Given the description of an element on the screen output the (x, y) to click on. 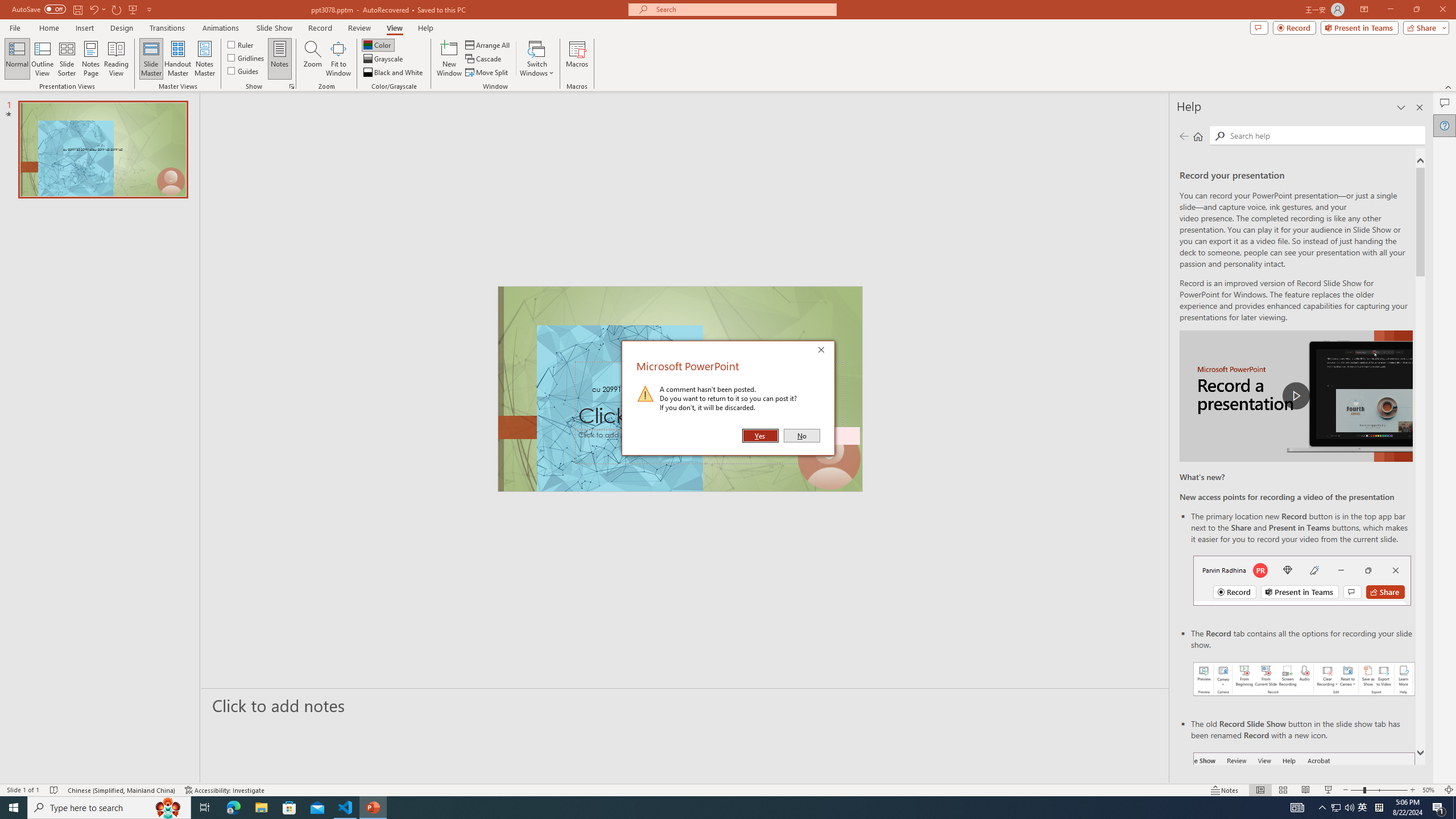
Gridlines (246, 56)
Record button in top bar (1301, 580)
Home (1198, 136)
Handout Master (177, 58)
Task Pane Options (1400, 107)
Design (122, 28)
Warning Icon (645, 393)
Zoom 50% (1430, 790)
Previous page (1183, 136)
Search (1325, 135)
PowerPoint - 1 running window (373, 807)
Zoom to Fit  (1449, 790)
Action Center, 1 new notification (1439, 807)
